Given the description of an element on the screen output the (x, y) to click on. 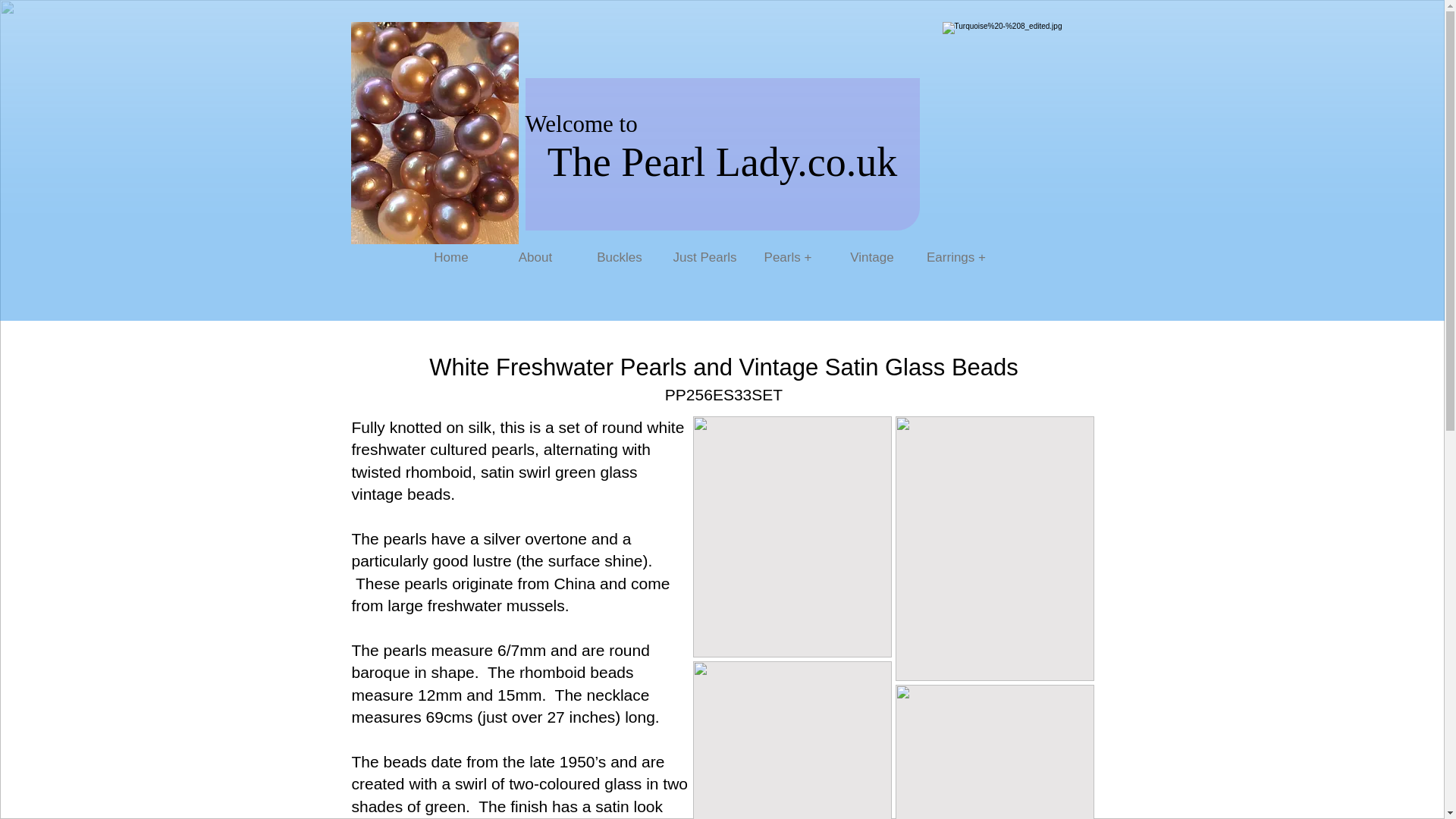
The Pearl Lady.co.uk (721, 162)
About (534, 257)
Home (451, 257)
